Given the description of an element on the screen output the (x, y) to click on. 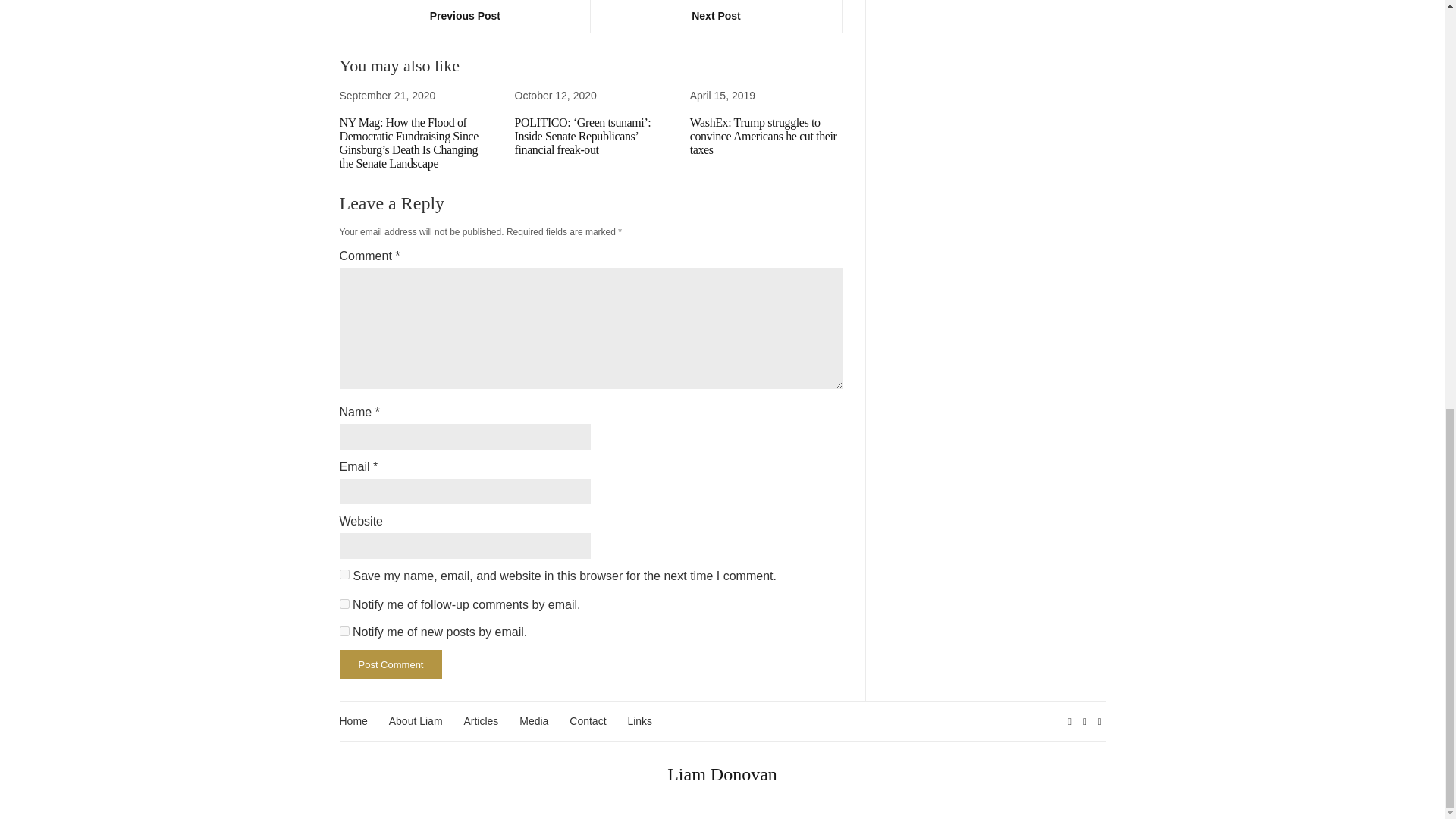
Post Comment (390, 664)
subscribe (344, 603)
About Liam (415, 721)
yes (344, 574)
subscribe (344, 631)
Media (533, 721)
Next Post (716, 16)
Home (353, 721)
Articles (480, 721)
Contact (587, 721)
